Given the description of an element on the screen output the (x, y) to click on. 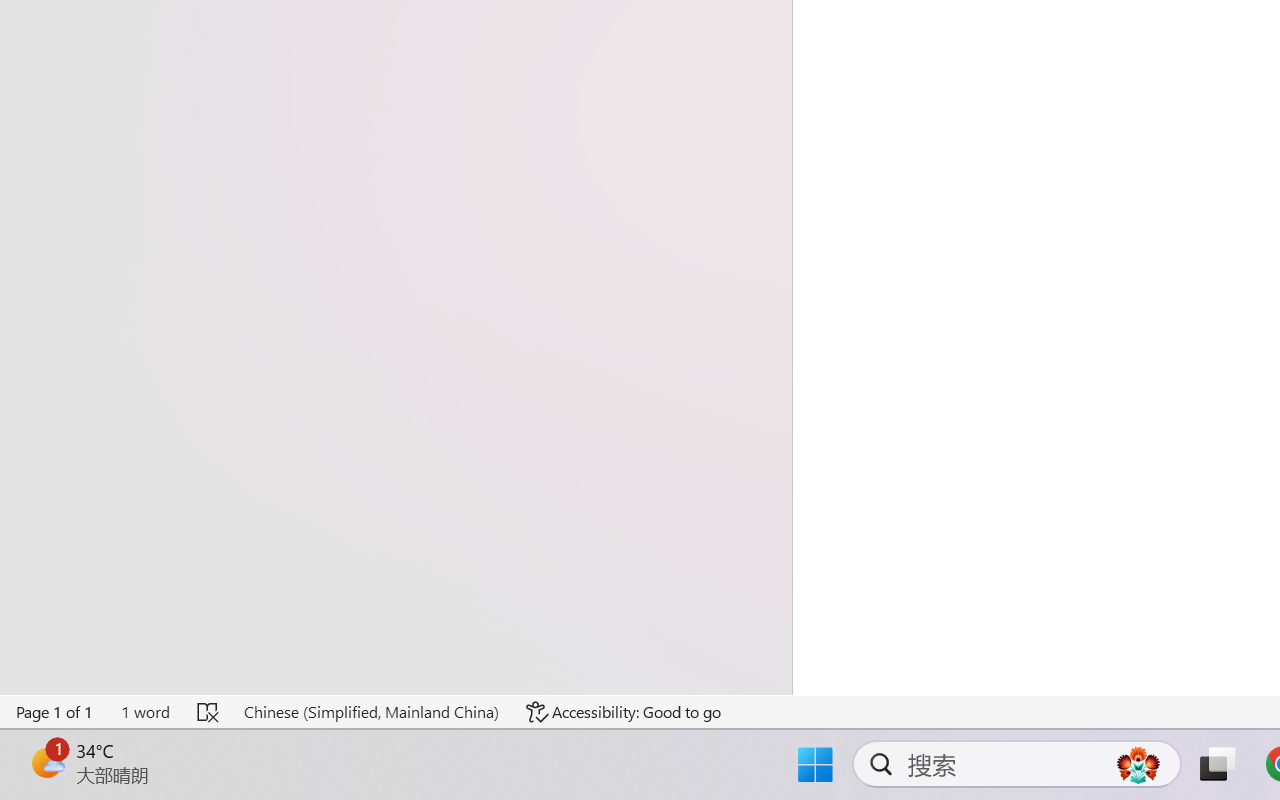
Language Chinese (Simplified, Mainland China) (370, 712)
Spelling and Grammar Check Errors (208, 712)
